Given the description of an element on the screen output the (x, y) to click on. 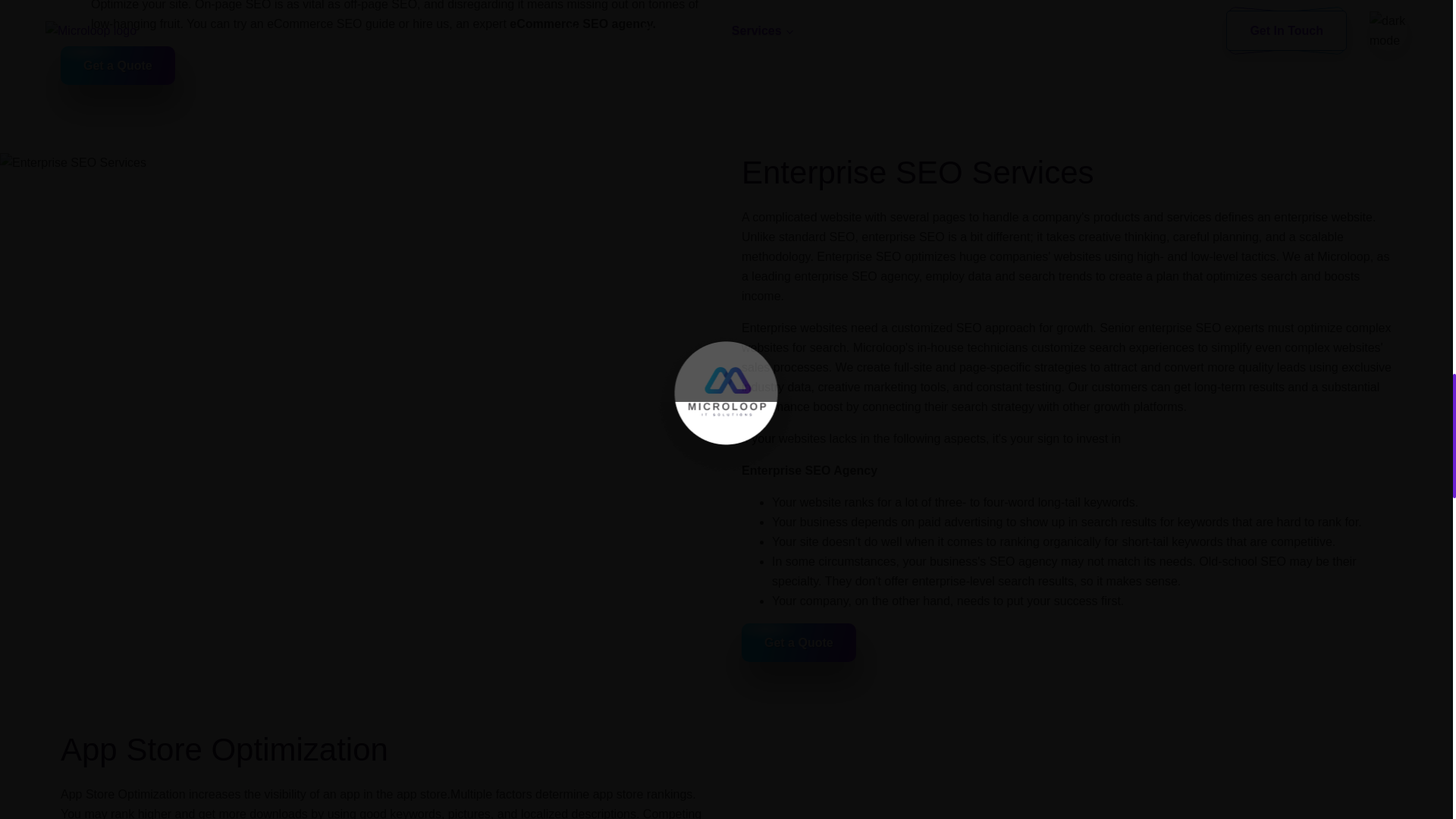
Get a Quote (798, 642)
Get a Quote (117, 65)
